Given the description of an element on the screen output the (x, y) to click on. 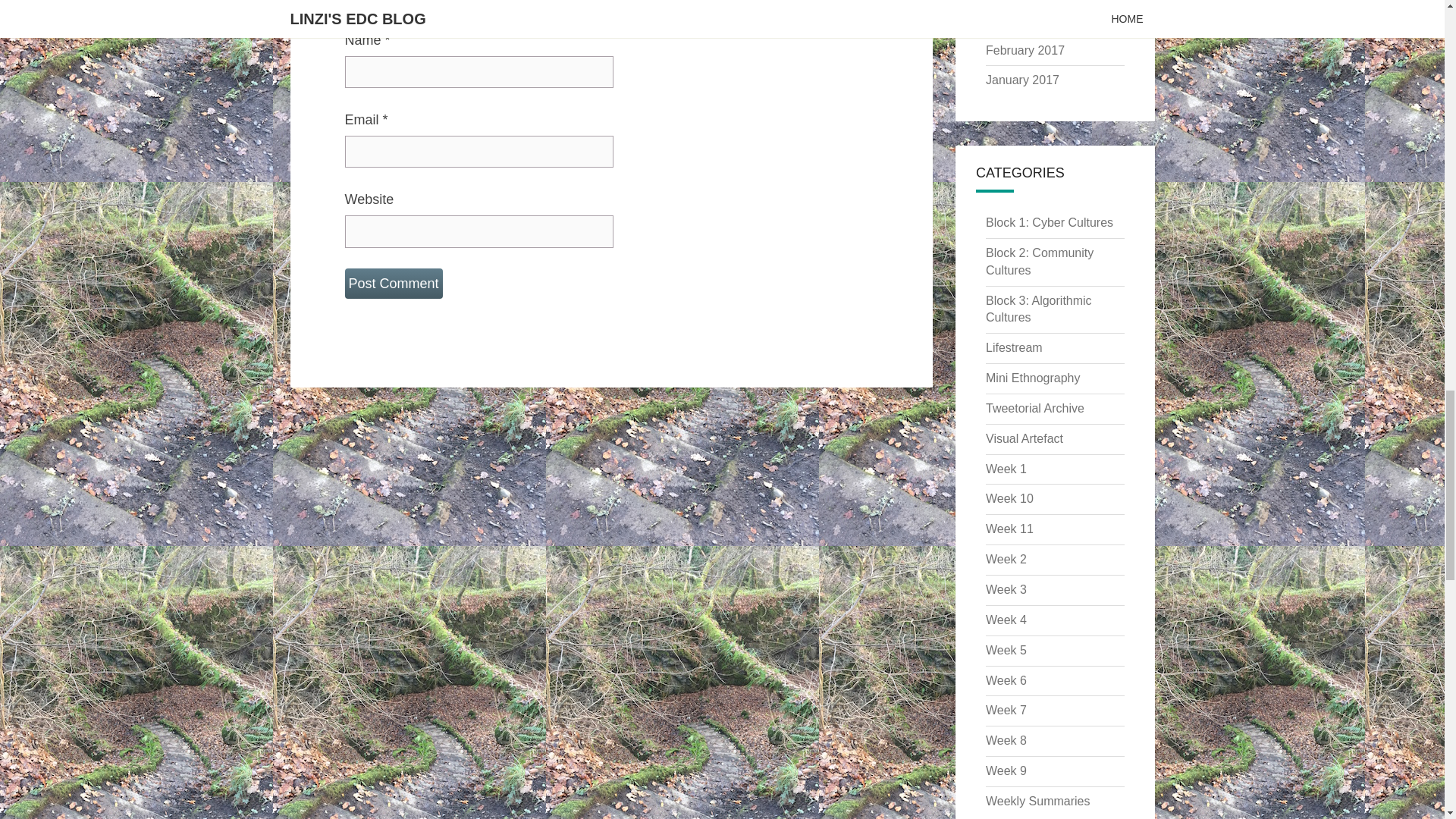
Post Comment (392, 283)
Post Comment (392, 283)
